Given the description of an element on the screen output the (x, y) to click on. 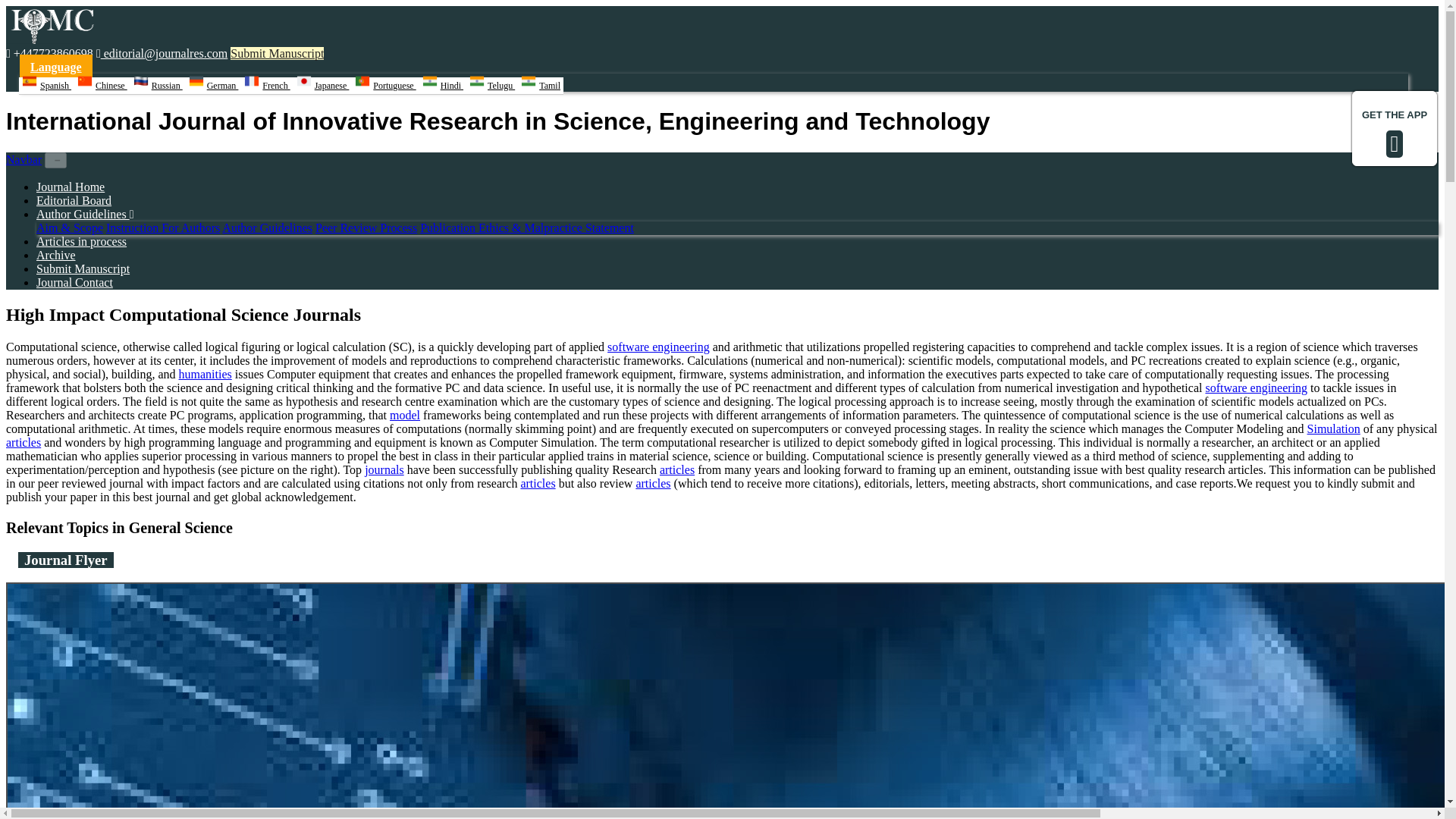
articles (22, 441)
Russian (158, 85)
software engineering (658, 346)
Editorial Board (74, 200)
Portuguese (385, 85)
Author Guidelines (84, 214)
Editorial Board (74, 200)
Hindi (442, 85)
Japanese (323, 85)
Hindi (442, 85)
Articles in process (81, 241)
Language (56, 66)
Russian (158, 85)
model (405, 414)
articles (536, 482)
